Given the description of an element on the screen output the (x, y) to click on. 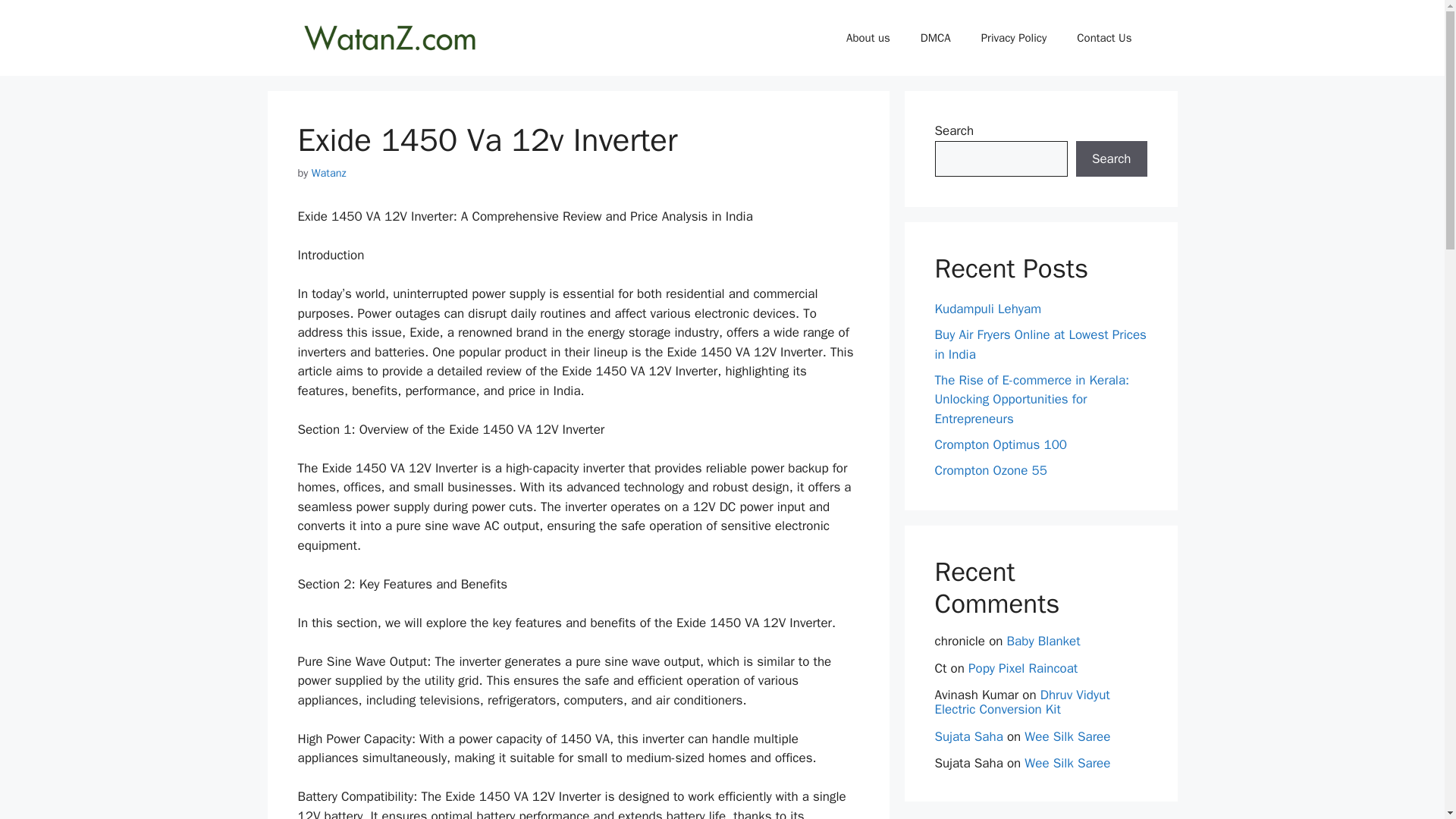
Baby Blanket (1043, 641)
Search (1111, 158)
Sujata Saha (968, 736)
Crompton Optimus 100 (1000, 444)
Privacy Policy (1014, 37)
Crompton Ozone 55 (990, 470)
View all posts by Watanz (328, 172)
Watanz (328, 172)
DMCA (935, 37)
About us (868, 37)
